Given the description of an element on the screen output the (x, y) to click on. 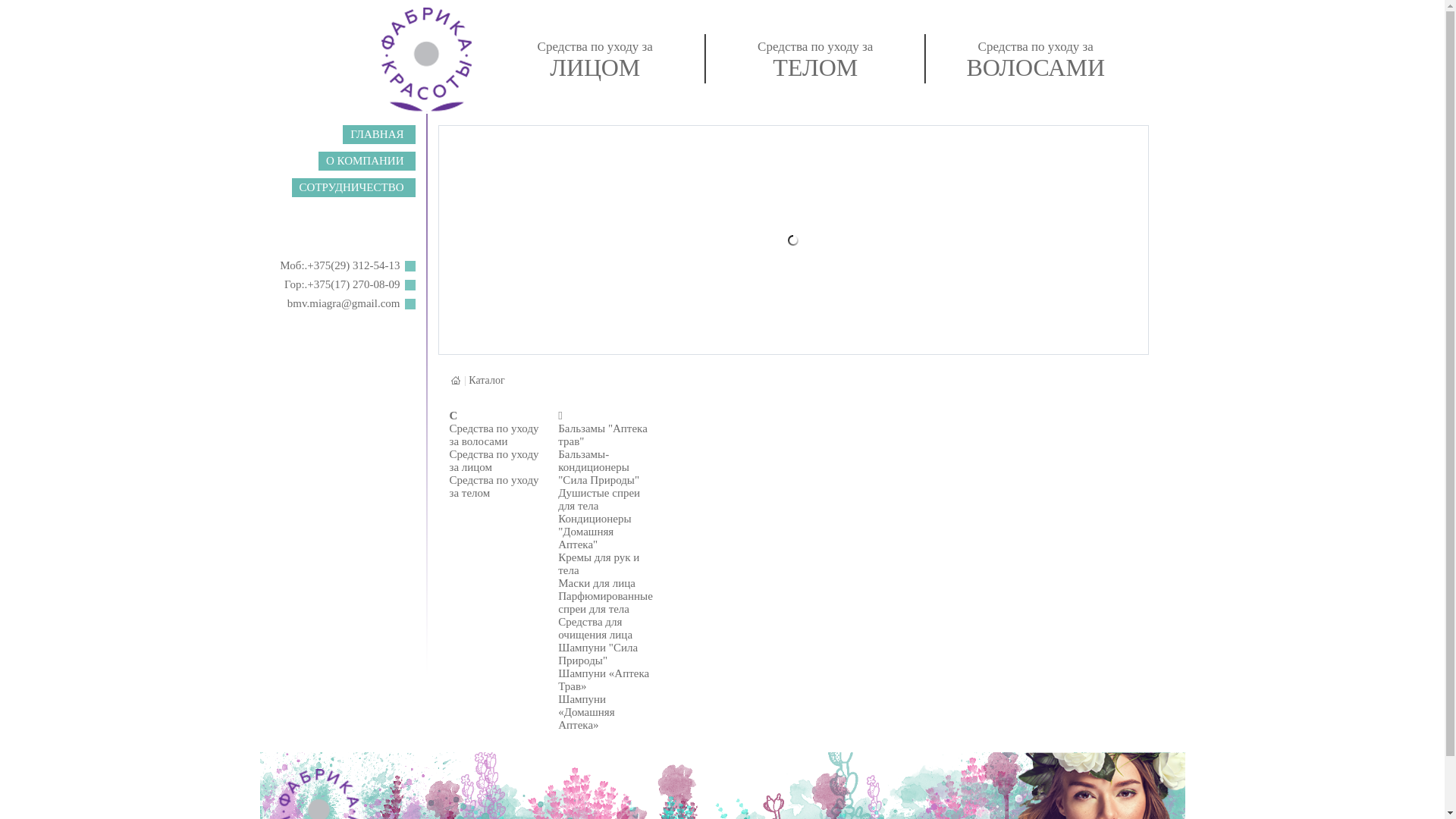
bmv.miagra@gmail.com Element type: text (343, 303)
